Given the description of an element on the screen output the (x, y) to click on. 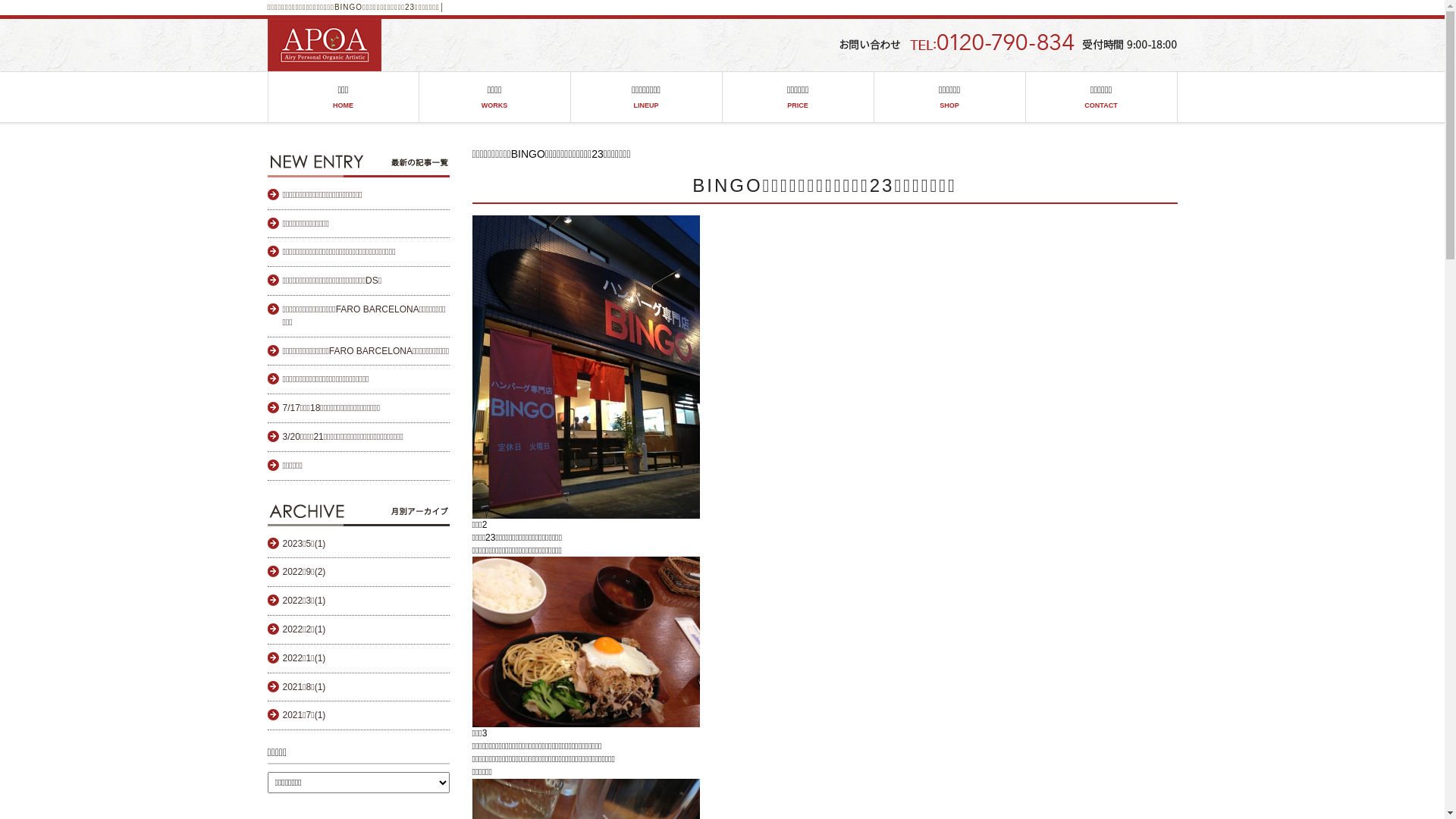
head_tel Element type: hover (1005, 41)
